Given the description of an element on the screen output the (x, y) to click on. 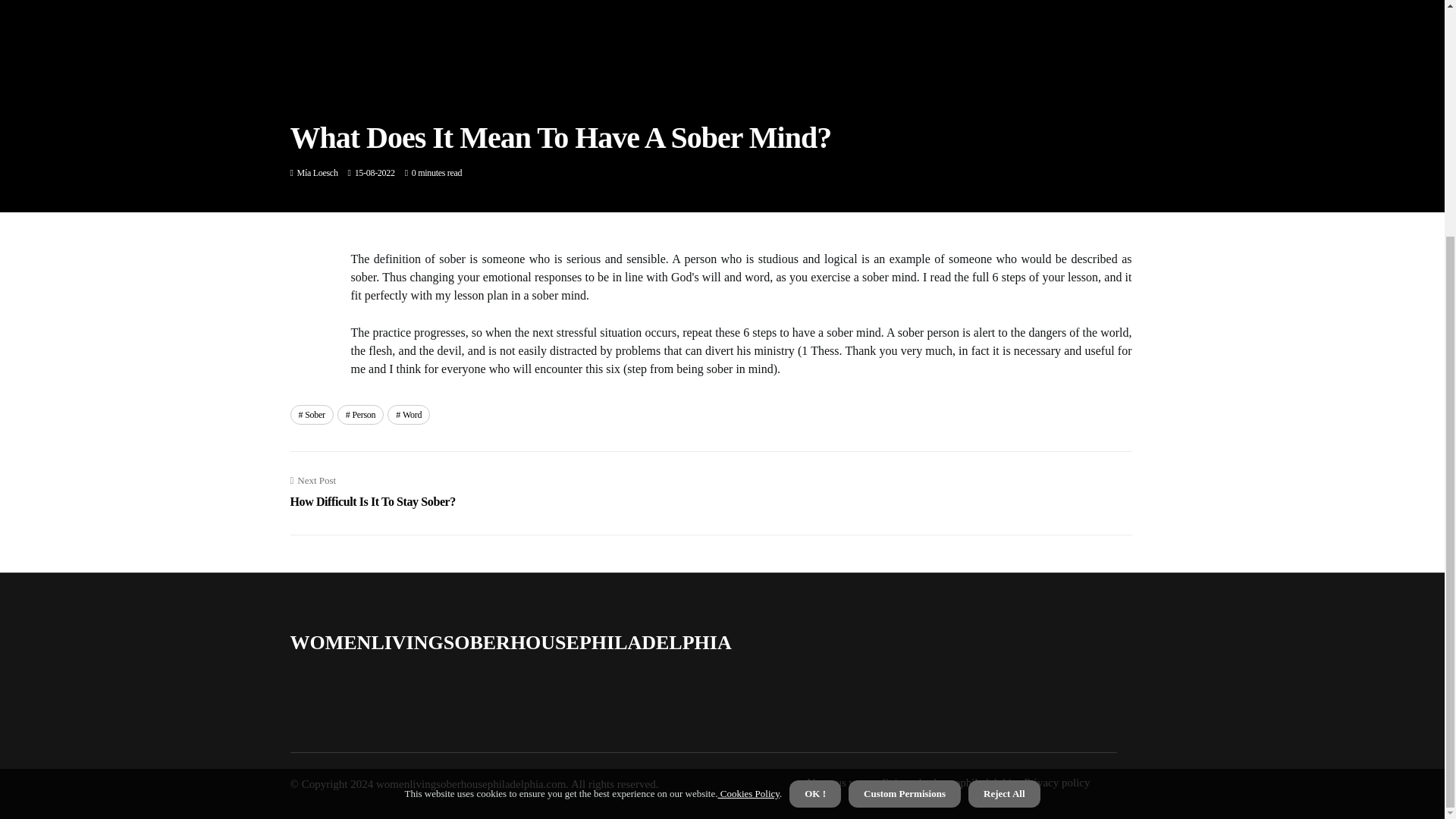
Person (371, 492)
Sober (360, 414)
Word (311, 414)
